Given the description of an element on the screen output the (x, y) to click on. 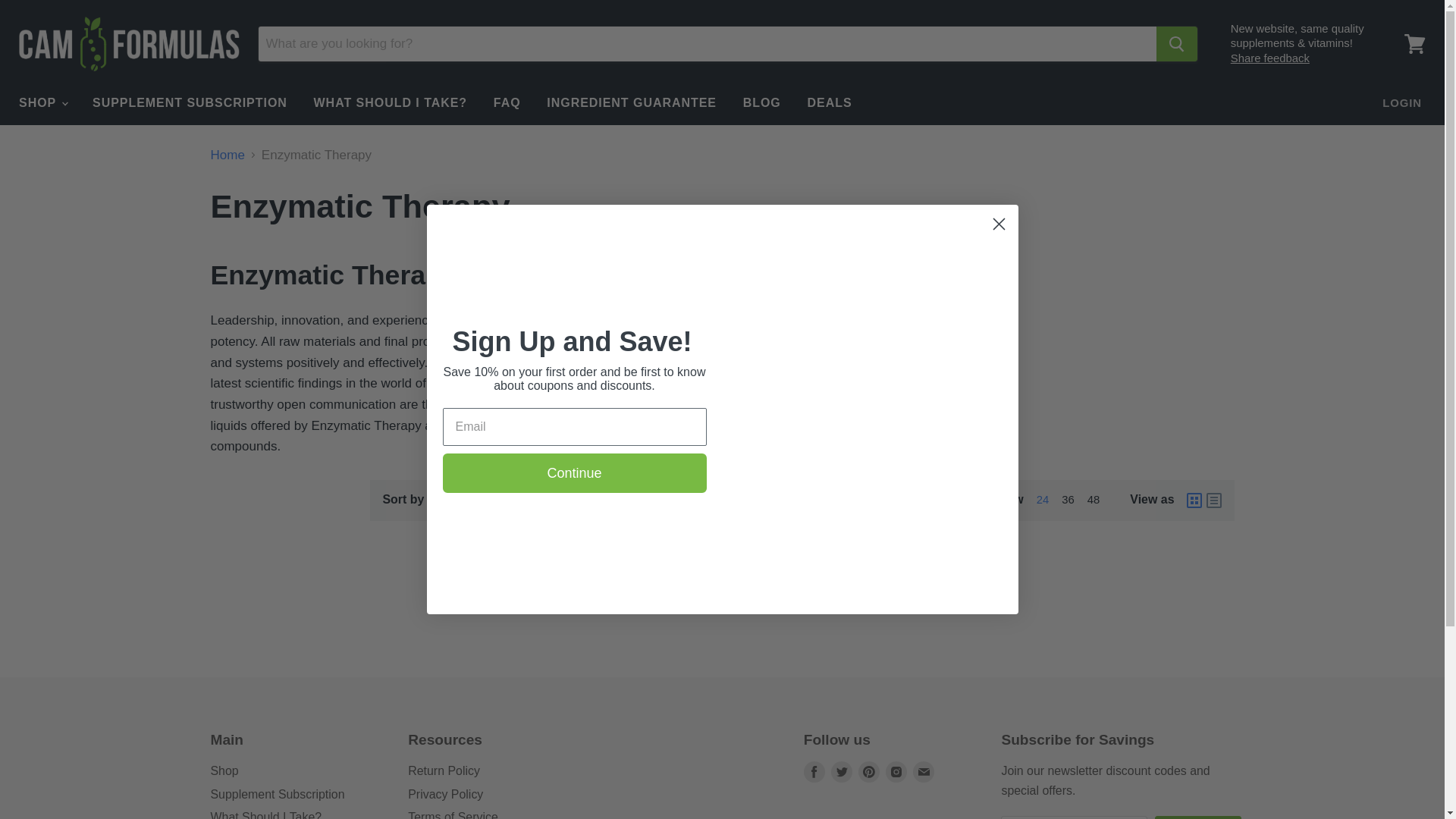
E-mail (923, 771)
Pinterest (869, 771)
Twitter (841, 771)
Instagram (896, 771)
Share feedback (1269, 58)
SHOP (42, 102)
View cart (1414, 43)
Website Feedback (1269, 58)
Facebook (814, 771)
